Given the description of an element on the screen output the (x, y) to click on. 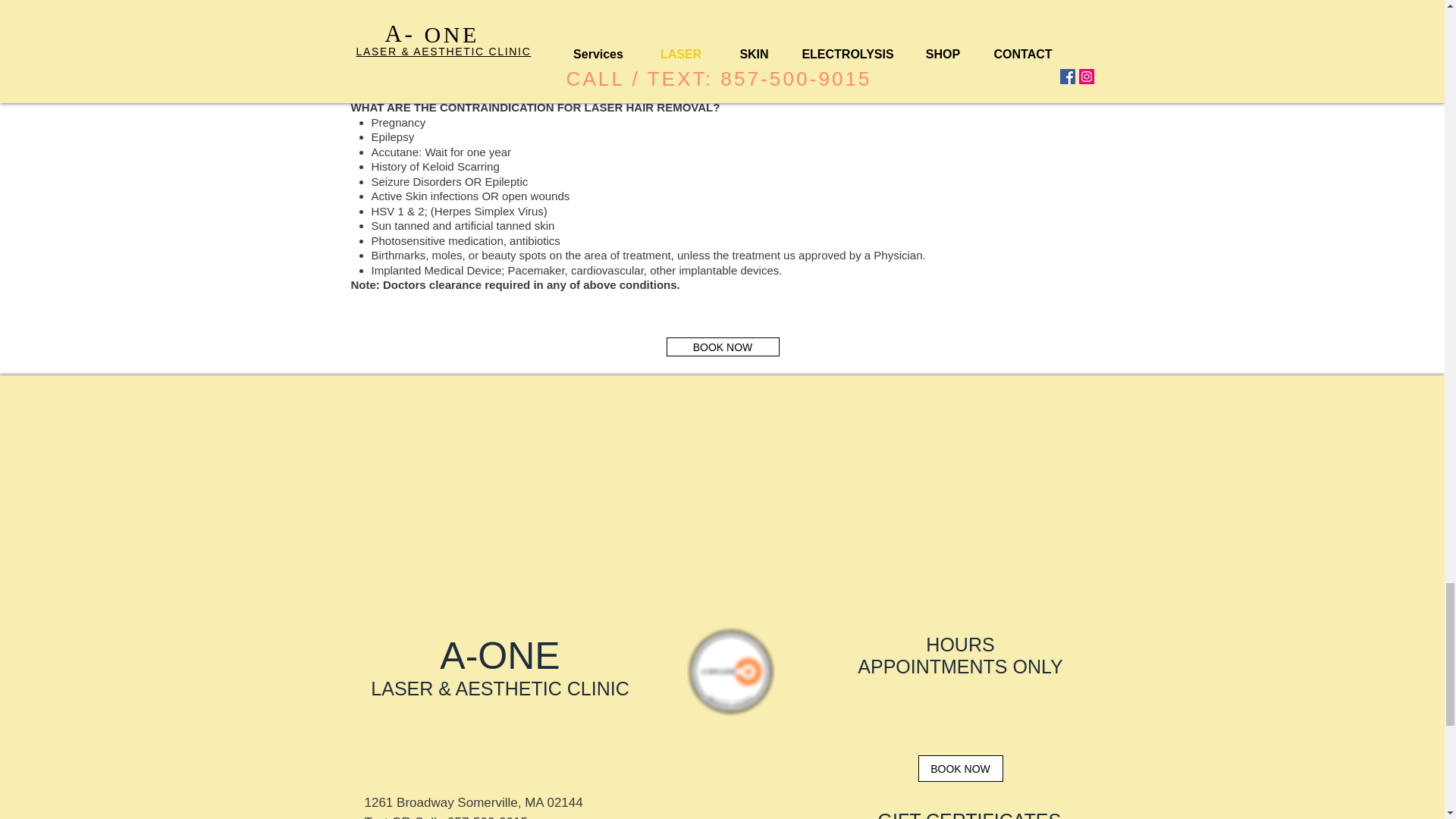
BOOK NOW (960, 768)
1261 Broadway Somerville, MA (455, 802)
BOOK NOW (721, 346)
A-ONE (499, 655)
Text OR Call : 857-500-9015 (445, 816)
